Given the description of an element on the screen output the (x, y) to click on. 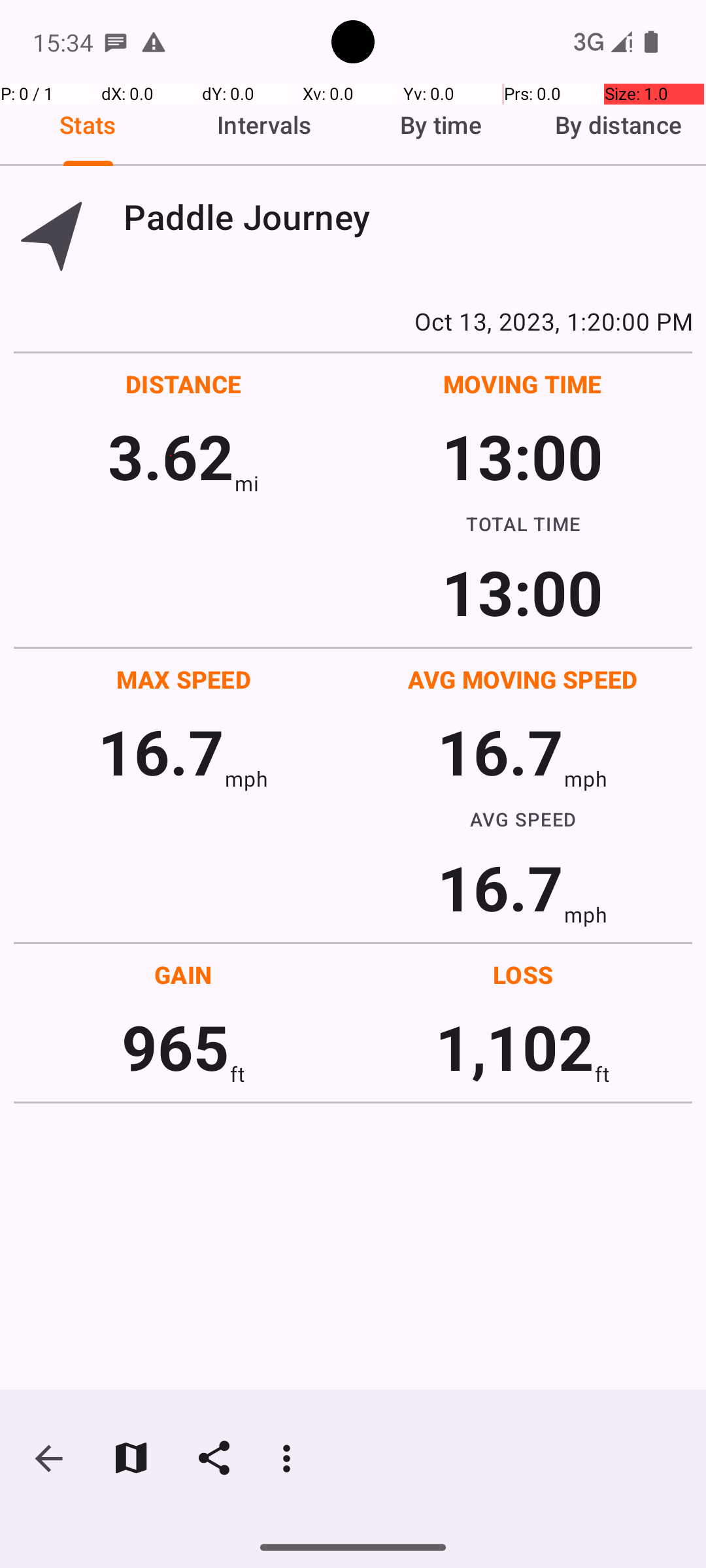
Paddle Journey Element type: android.widget.TextView (407, 216)
Oct 13, 2023, 1:20:00 PM Element type: android.widget.TextView (352, 320)
3.62 Element type: android.widget.TextView (170, 455)
13:00 Element type: android.widget.TextView (522, 455)
MAX SPEED Element type: android.widget.TextView (183, 678)
AVG MOVING SPEED Element type: android.widget.TextView (522, 678)
16.7 Element type: android.widget.TextView (161, 750)
mph Element type: android.widget.TextView (246, 778)
AVG SPEED Element type: android.widget.TextView (522, 818)
965 Element type: android.widget.TextView (175, 1045)
1,102 Element type: android.widget.TextView (514, 1045)
